Given the description of an element on the screen output the (x, y) to click on. 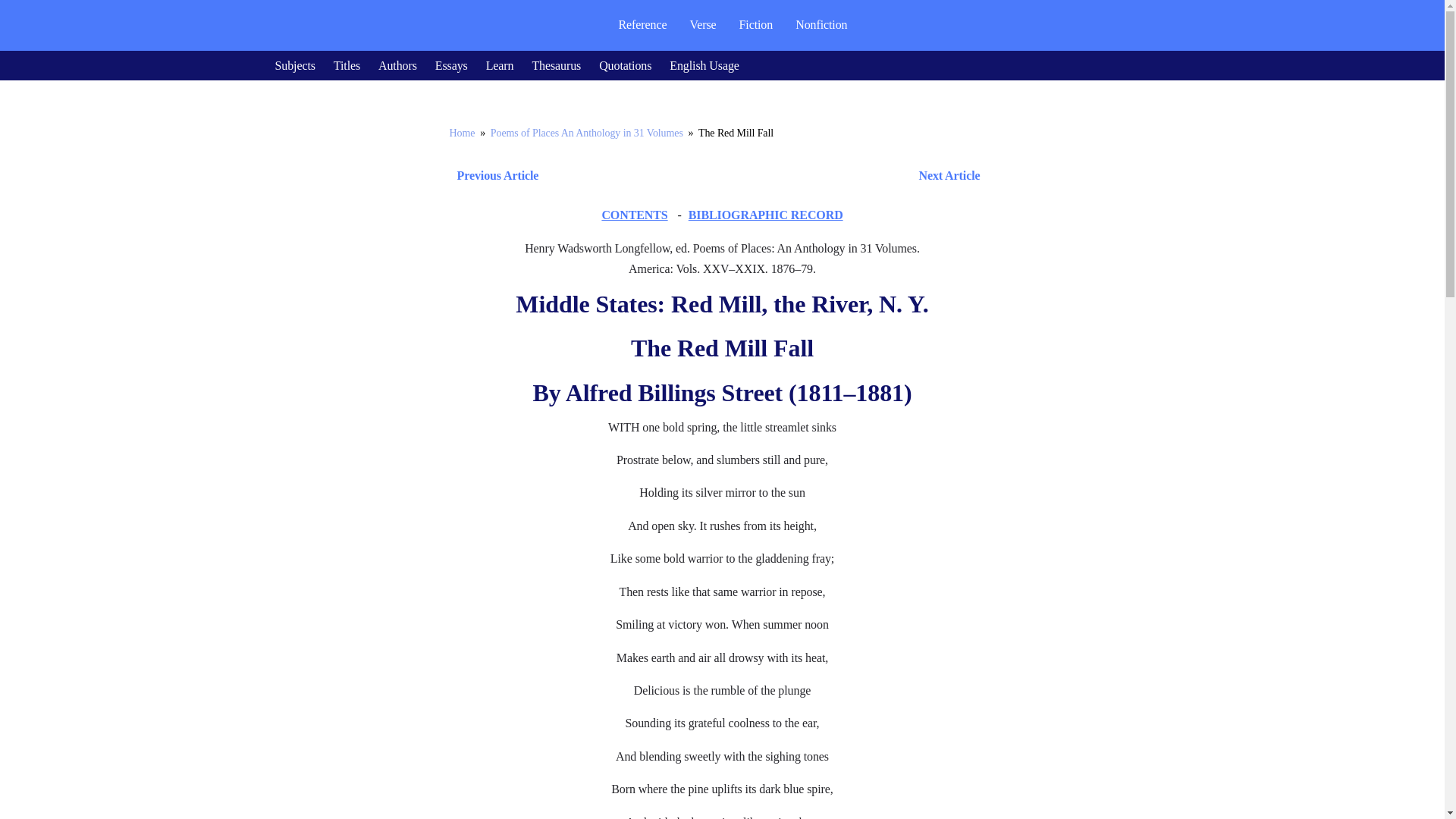
Authors (397, 65)
Nonfiction (821, 24)
BIBLIOGRAPHIC RECORD (765, 214)
Learn (499, 65)
Fiction (756, 24)
Verse (702, 24)
Titles (346, 65)
Next Article (766, 175)
Poems of Places An Anthology in 31 Volumes (586, 132)
Quotations (624, 65)
